Given the description of an element on the screen output the (x, y) to click on. 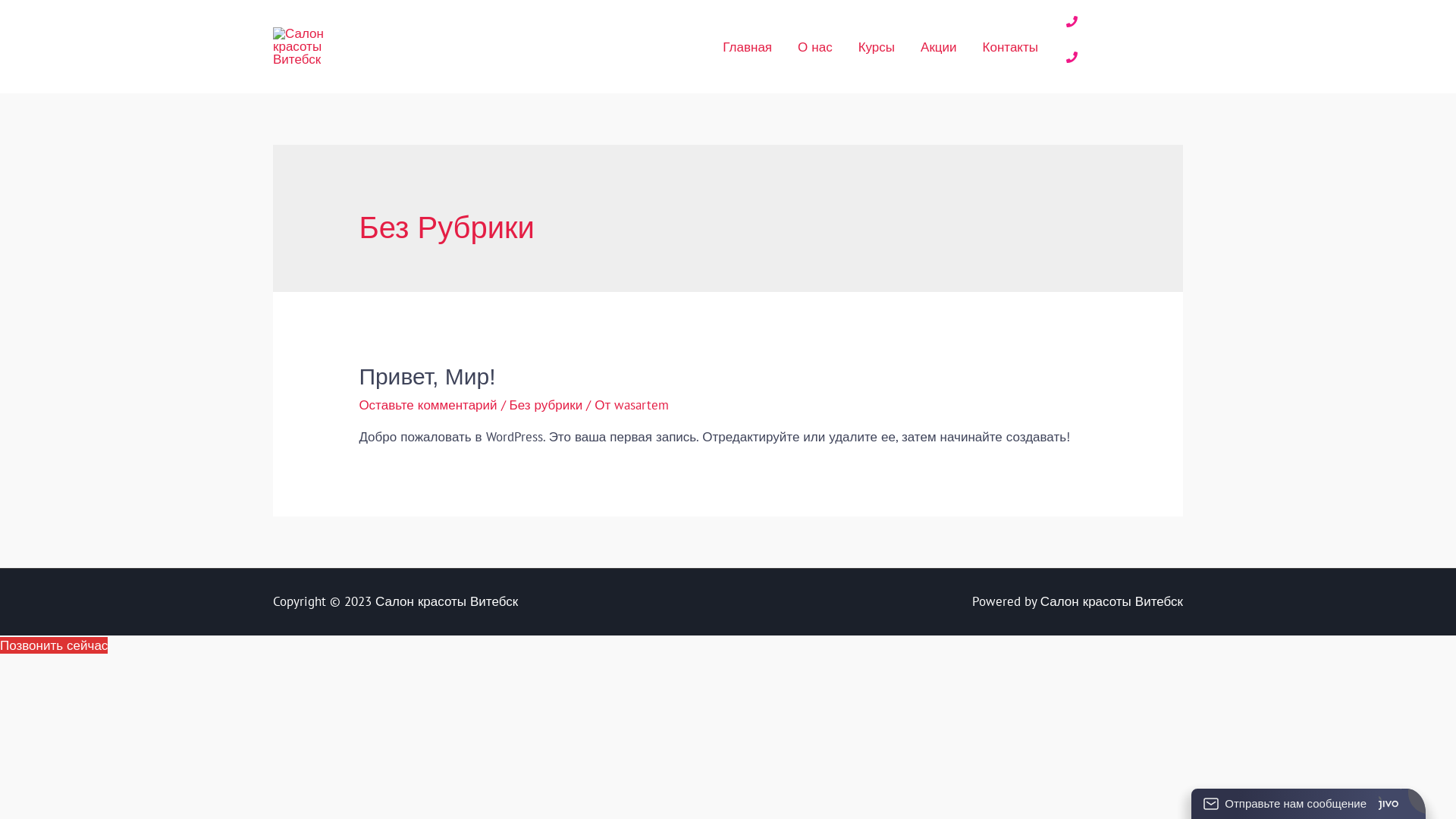
wasartem Element type: text (641, 404)
+37533 390-61-61 Element type: text (1120, 63)
+37529 532-04-51 Element type: text (1120, 27)
